Given the description of an element on the screen output the (x, y) to click on. 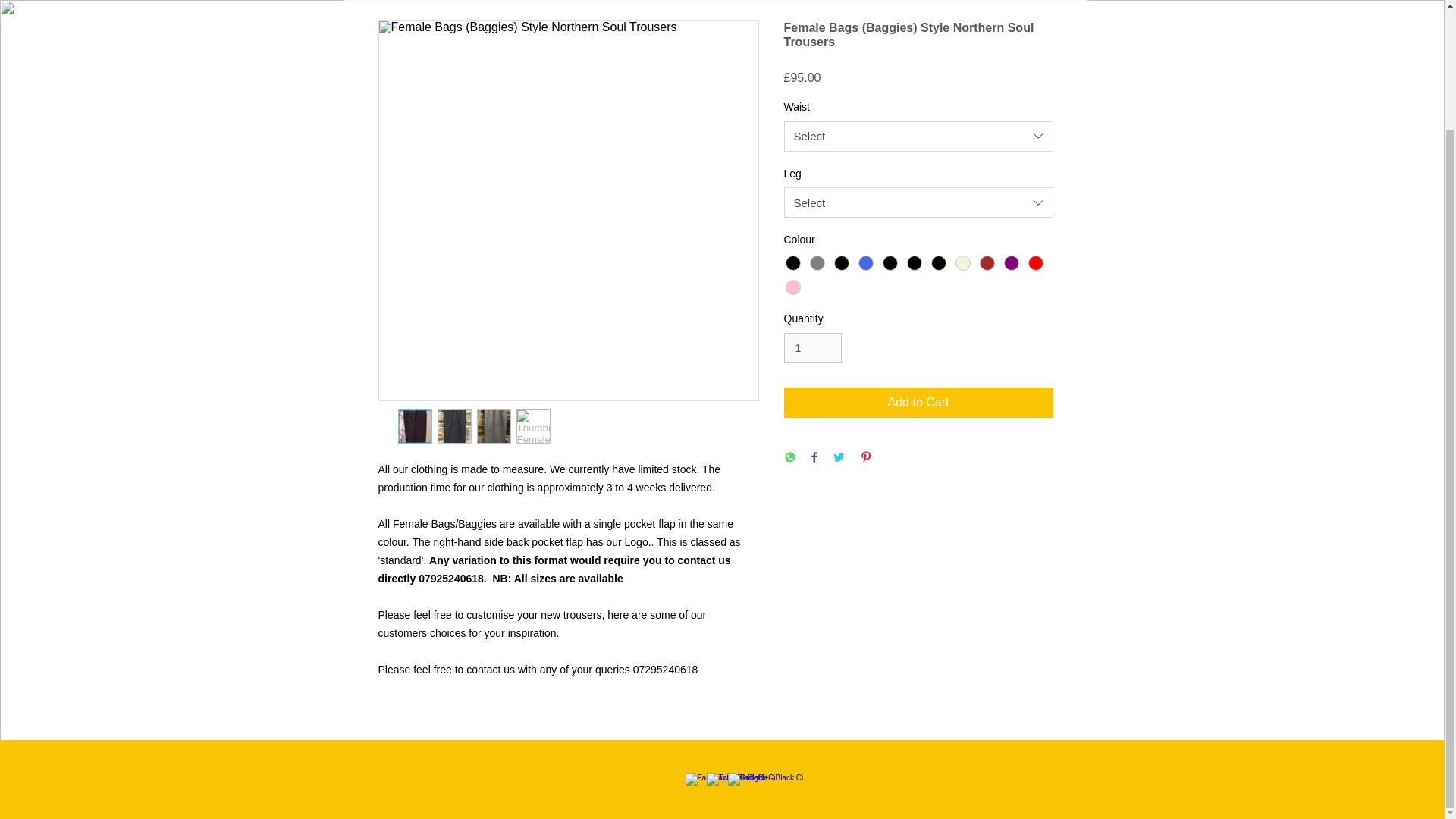
Select (918, 136)
Select (918, 202)
1 (812, 347)
Add to Cart (918, 402)
